Given the description of an element on the screen output the (x, y) to click on. 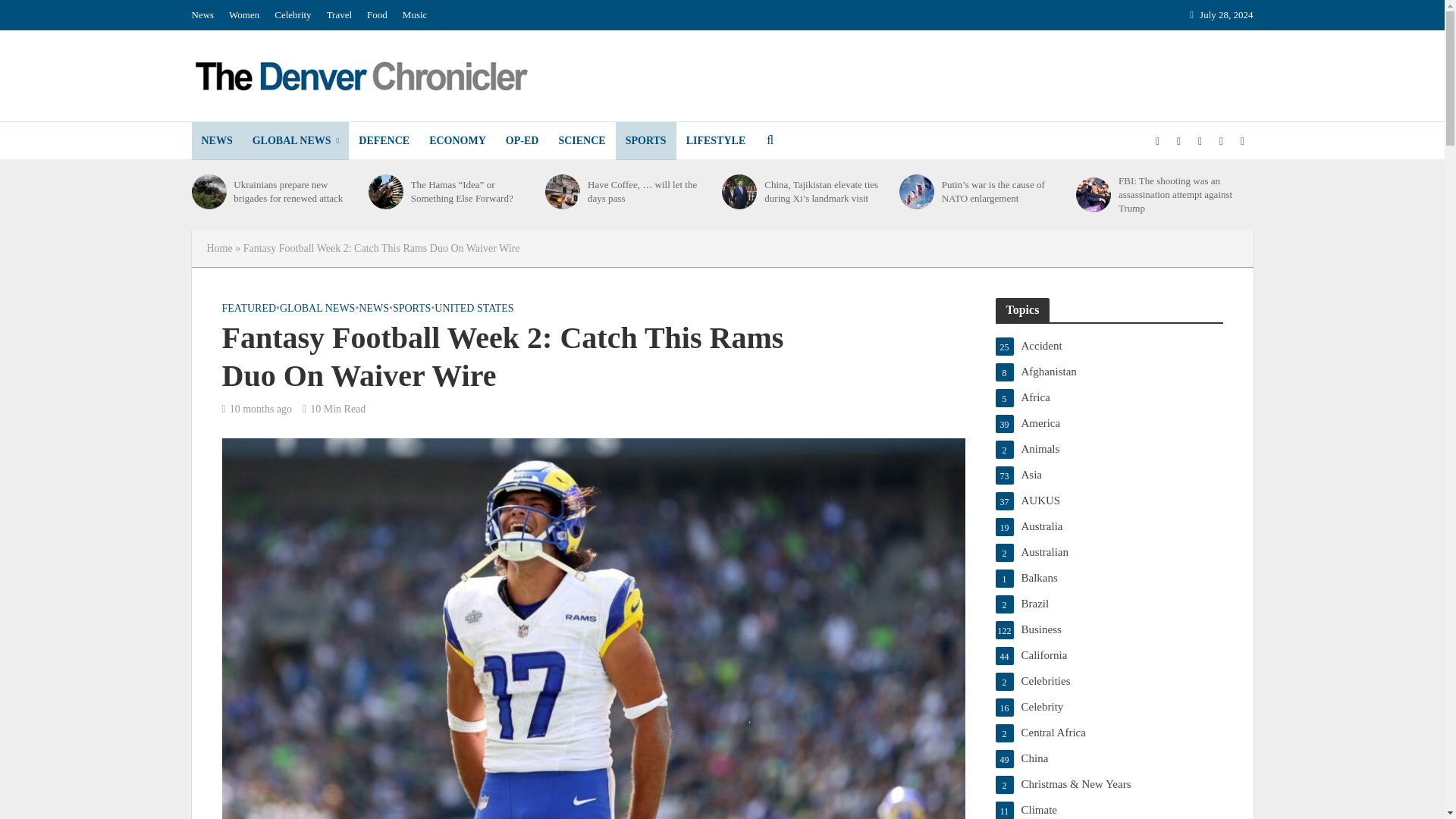
Celebrity (292, 15)
News (205, 15)
Women (243, 15)
FBI: The shooting was an assassination attempt against Trump (1092, 194)
Ukrainians prepare new brigades for renewed attack (207, 191)
NEWS (215, 140)
Travel (338, 15)
Music (414, 15)
GLOBAL NEWS (296, 140)
Food (376, 15)
